Given the description of an element on the screen output the (x, y) to click on. 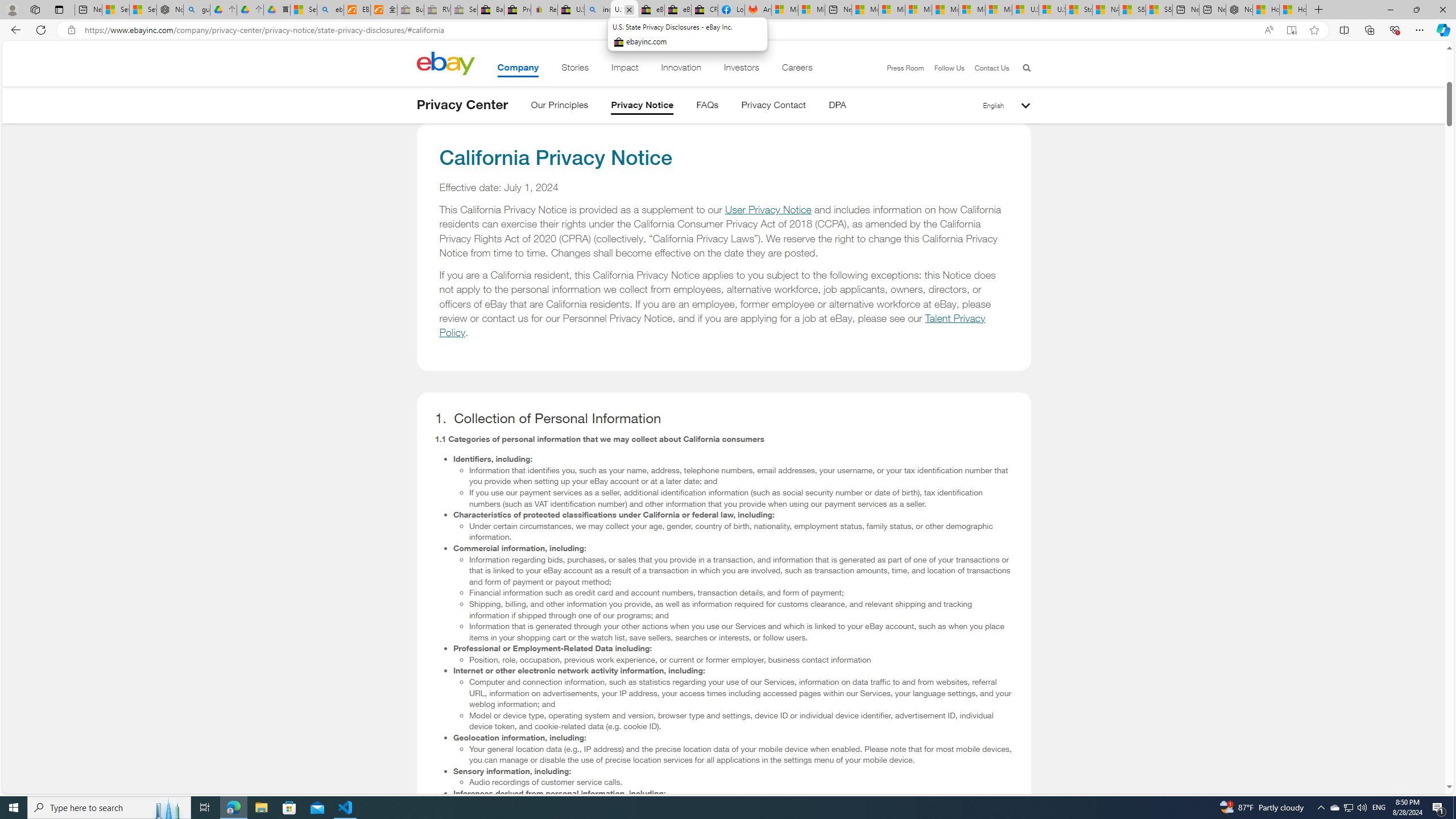
Talent Privacy Policy (712, 325)
Buy Auto Parts & Accessories | eBay - Sleeping (411, 9)
Enter Immersive Reader (F9) (1291, 29)
